Given the description of an element on the screen output the (x, y) to click on. 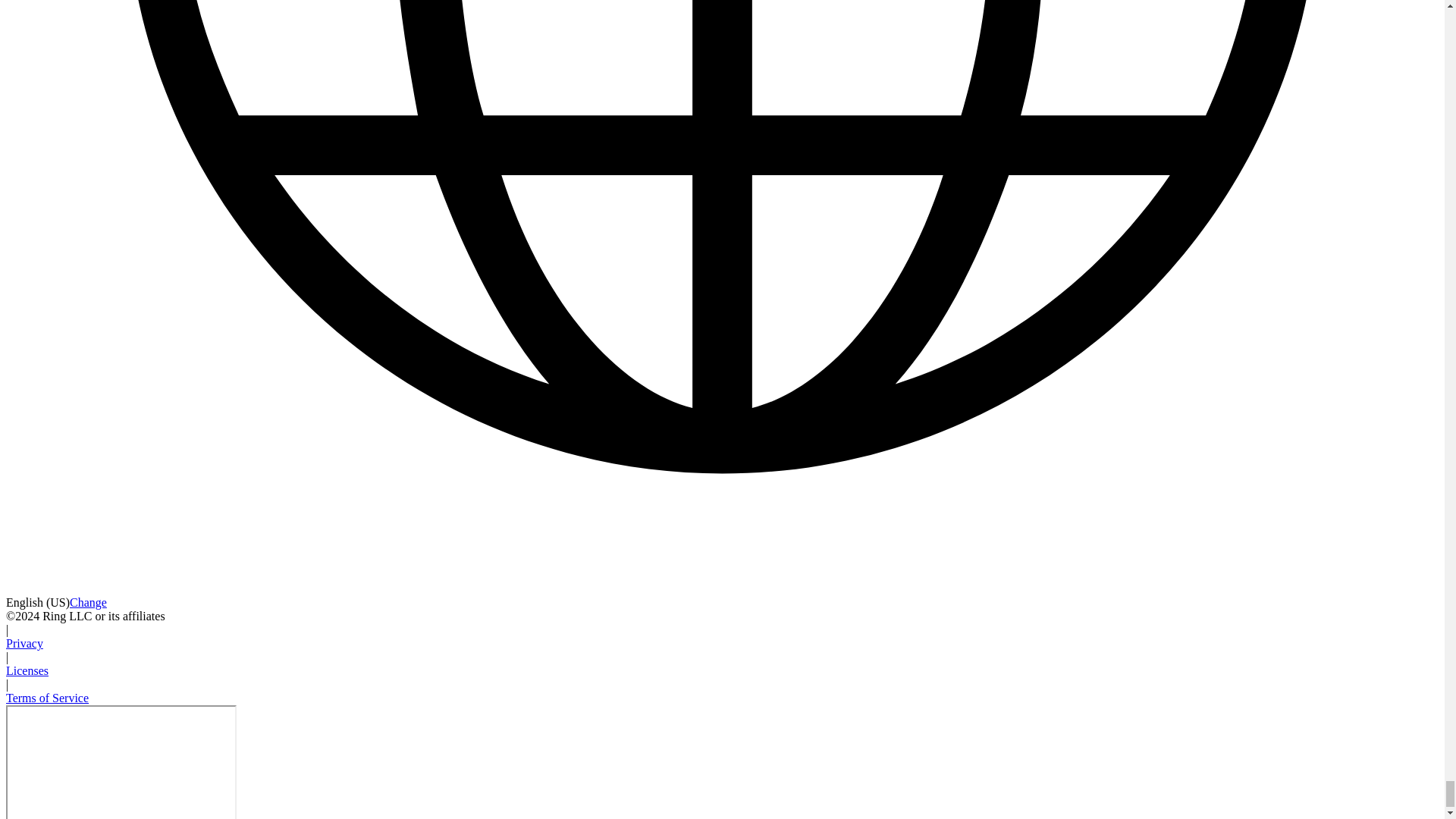
Licenses (26, 670)
Change (87, 602)
Privacy (24, 643)
Terms of Service (46, 697)
